Given the description of an element on the screen output the (x, y) to click on. 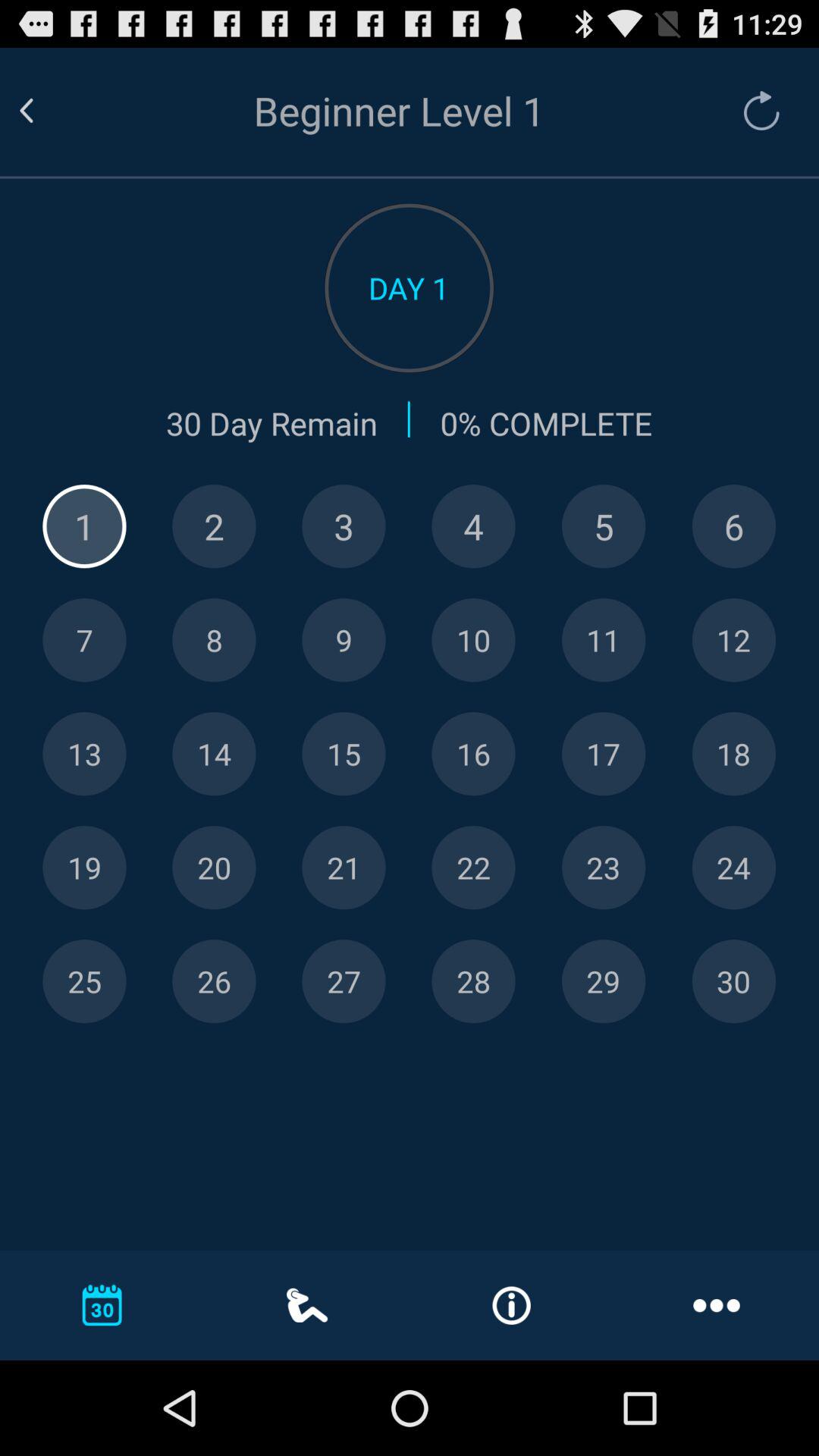
refresh (754, 110)
